Given the description of an element on the screen output the (x, y) to click on. 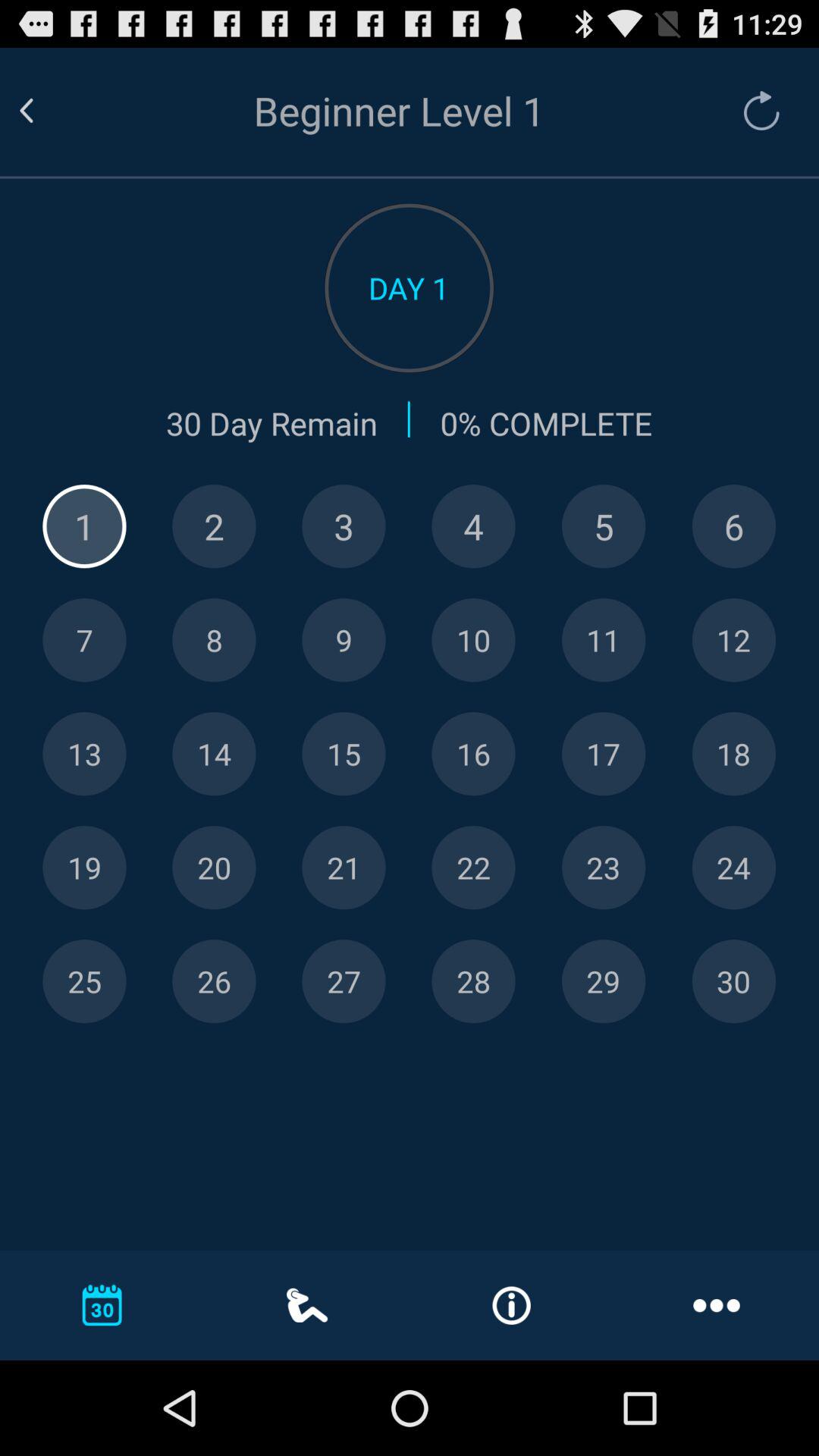
refresh (754, 110)
